Given the description of an element on the screen output the (x, y) to click on. 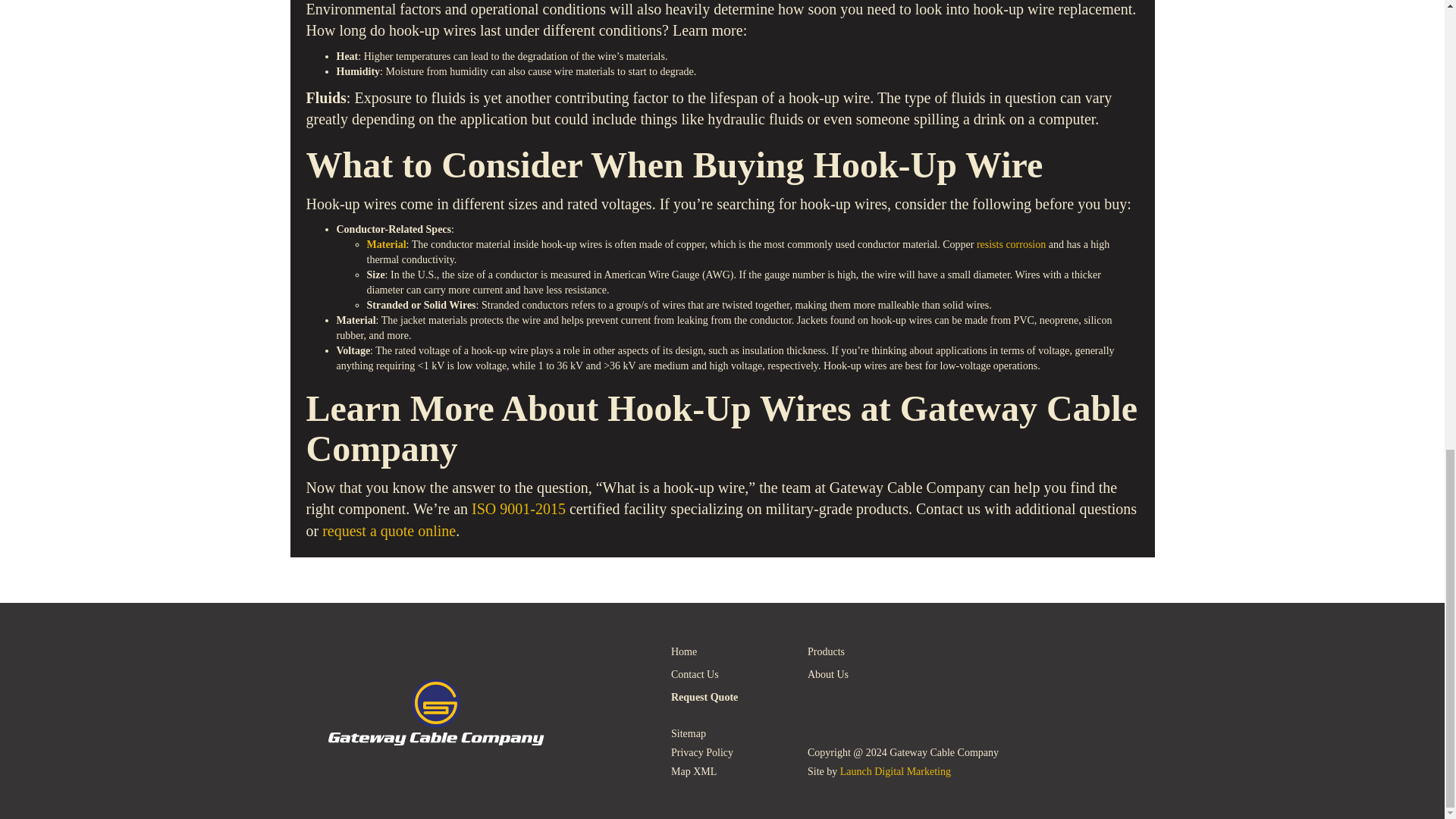
resists corrosion (1010, 244)
Material (386, 244)
ISO 9001-2015 (518, 508)
request a quote online (388, 530)
Home (727, 651)
